Given the description of an element on the screen output the (x, y) to click on. 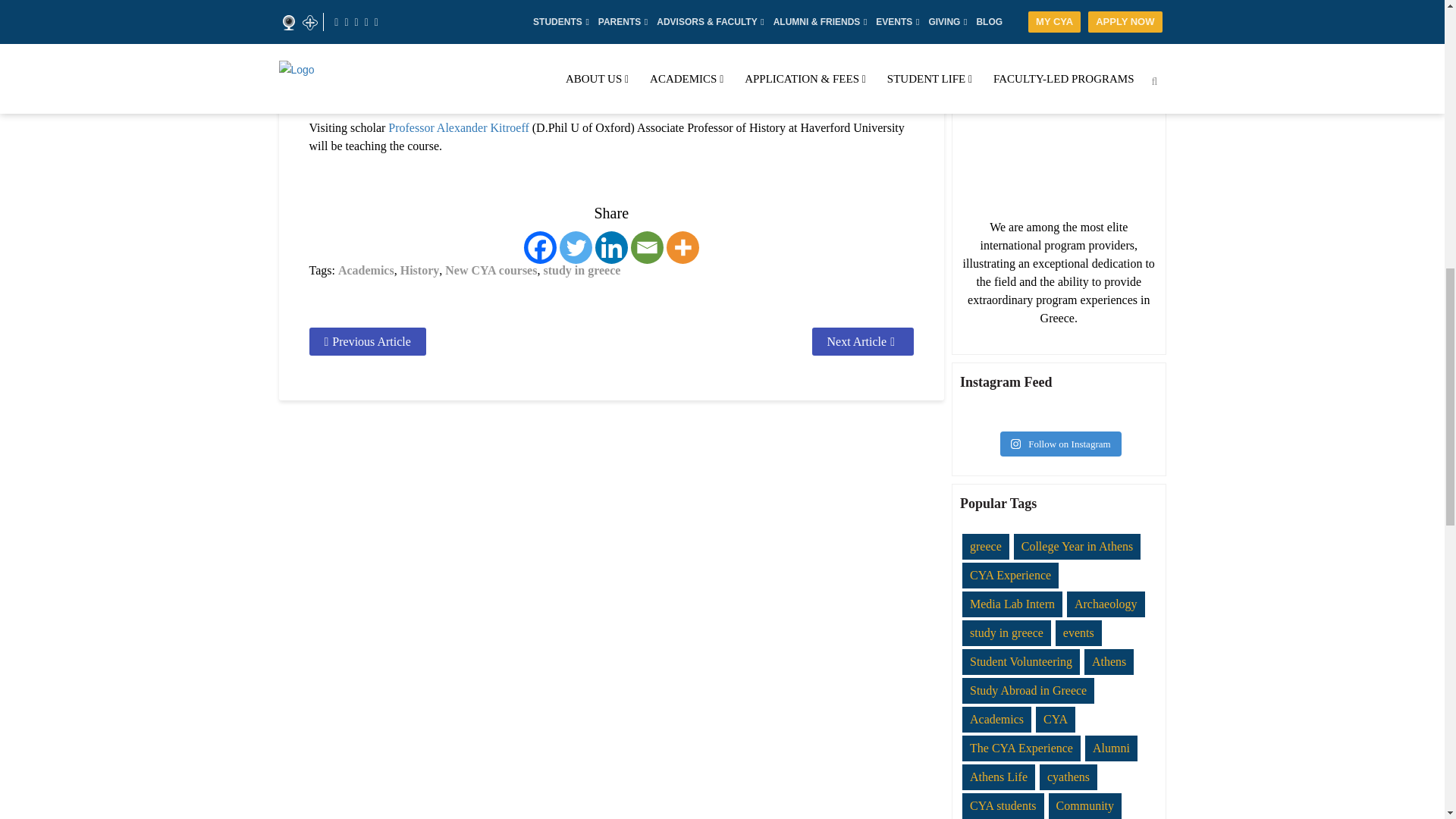
64 topics (1012, 604)
111 topics (1077, 546)
40 topics (985, 546)
Twitter (575, 246)
68 topics (1010, 575)
More (682, 246)
47 topics (1109, 661)
Linkedin (611, 246)
31 topics (1105, 604)
Facebook (540, 246)
24 topics (1021, 661)
76 topics (1006, 632)
25 topics (1078, 632)
Email (646, 246)
